Given the description of an element on the screen output the (x, y) to click on. 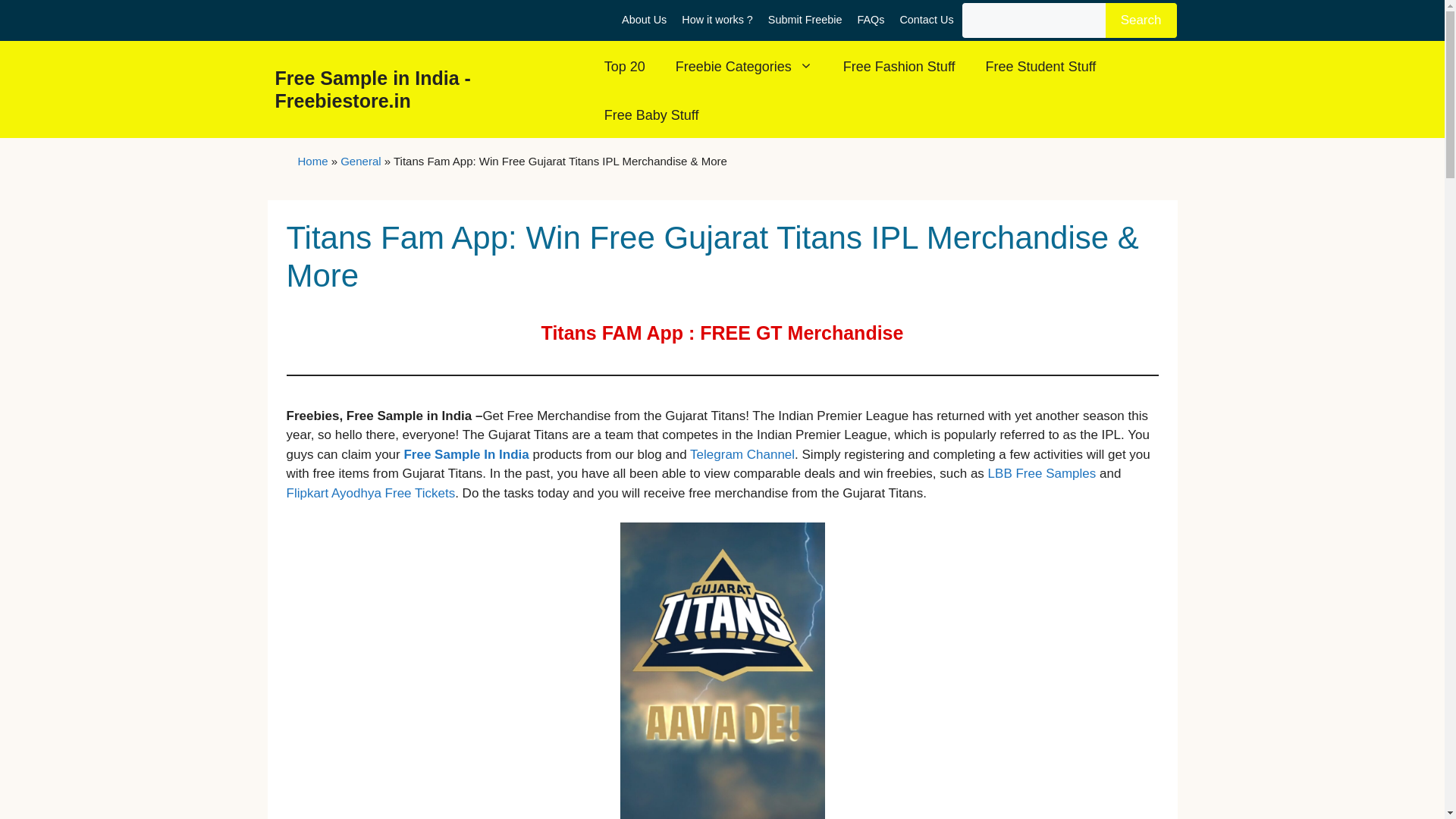
Submit Freebie (805, 19)
How it works ? (716, 19)
Search (1141, 20)
Top 20 (625, 66)
Freebie Categories (744, 66)
Contact Us (926, 19)
About Us (643, 19)
Free Sample in India - Freebiestore.in (372, 88)
FAQs (870, 19)
